Given the description of an element on the screen output the (x, y) to click on. 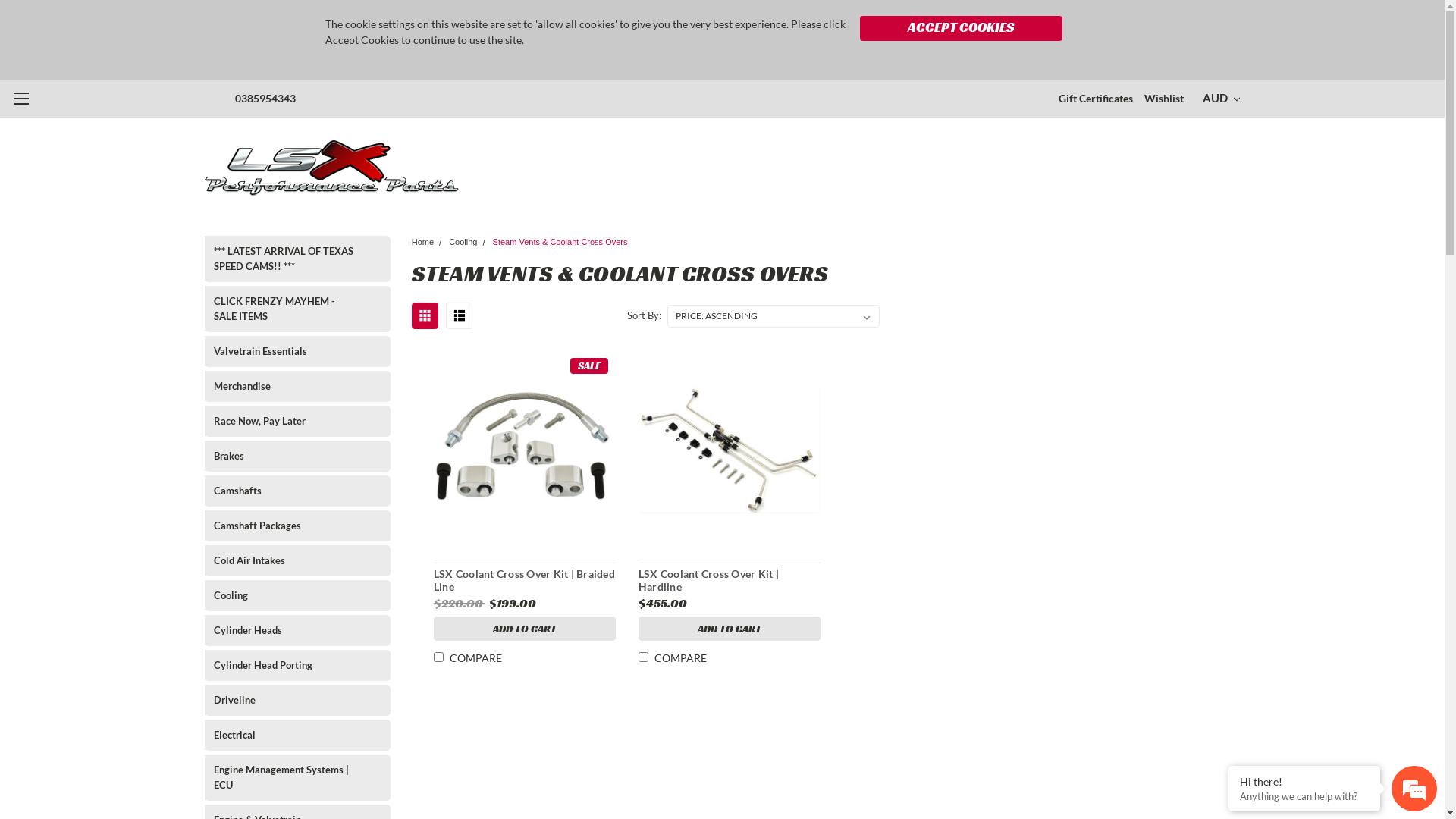
ADD TO CART Element type: text (524, 628)
ACCEPT COOKIES Element type: text (960, 27)
Camshafts Element type: text (283, 490)
CLICK FRENZY MAYHEM - SALE ITEMS Element type: text (283, 308)
AUD Element type: text (1217, 97)
LSX Coolant Cross Over Kit | Hardline  Element type: hover (729, 450)
Electrical Element type: text (283, 734)
Engine Management Systems | ECU Element type: text (283, 777)
Cooling Element type: text (283, 595)
ADD TO CART Element type: text (729, 628)
Cooling Element type: text (462, 241)
Brakes Element type: text (283, 455)
Steam Vents & Coolant Cross Overs Element type: text (559, 241)
Gift Certificates Element type: text (1095, 97)
Cylinder Heads Element type: text (283, 630)
Toggle menu Element type: text (20, 98)
Driveline Element type: text (283, 699)
Home Element type: text (422, 241)
*** LATEST ARRIVAL OF TEXAS SPEED CAMS!! *** Element type: text (283, 258)
LSX Coolant Cross Over Kit | Braided Line  Element type: hover (524, 450)
Camshaft Packages Element type: text (283, 525)
Wishlist Element type: text (1163, 97)
LSX Performance Parts Element type: hover (331, 168)
Merchandise Element type: text (283, 385)
Valvetrain Essentials Element type: text (283, 350)
Race Now, Pay Later Element type: text (283, 420)
LSX Coolant Cross Over Kit | Braided Line Element type: text (524, 580)
Cold Air Intakes Element type: text (283, 560)
LSX Coolant Cross Over Kit | Hardline Element type: text (729, 580)
Cylinder Head Porting Element type: text (283, 664)
0385954343 Element type: text (265, 97)
